Given the description of an element on the screen output the (x, y) to click on. 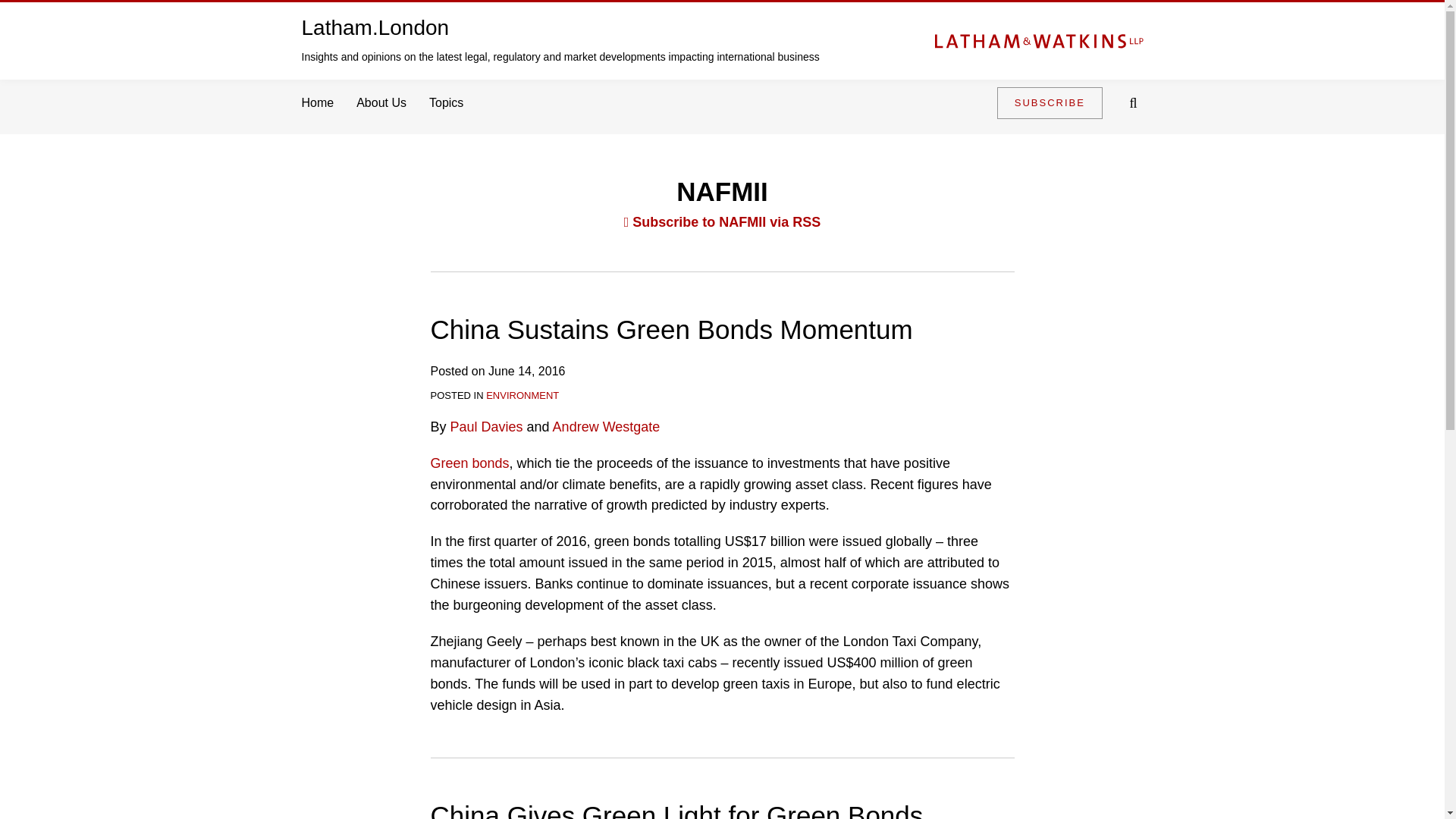
Green bonds (469, 462)
Paul Davies (485, 426)
ENVIRONMENT (522, 395)
China Gives Green Light for Green Bonds (676, 809)
Andrew Westgate (607, 426)
Home (317, 103)
Latham.London (375, 27)
About Us (381, 103)
Topics (446, 103)
SUBSCRIBE (1049, 102)
